Given the description of an element on the screen output the (x, y) to click on. 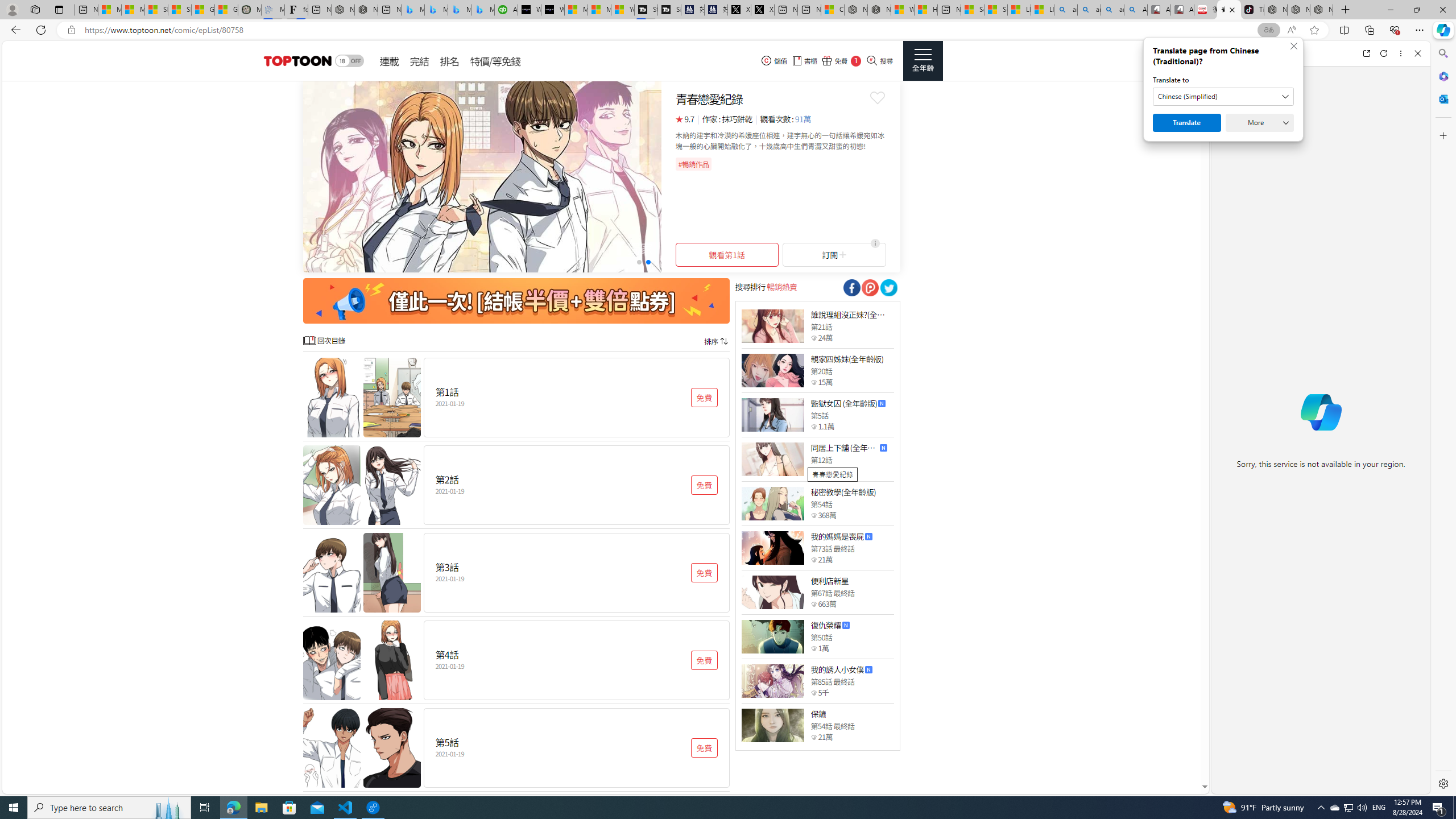
Translate to (1223, 96)
Nordace Siena Pro 15 Backpack (1298, 9)
All Cubot phones (1182, 9)
Class:  switch_18mode actionAdultBtn (349, 60)
